Given the description of an element on the screen output the (x, y) to click on. 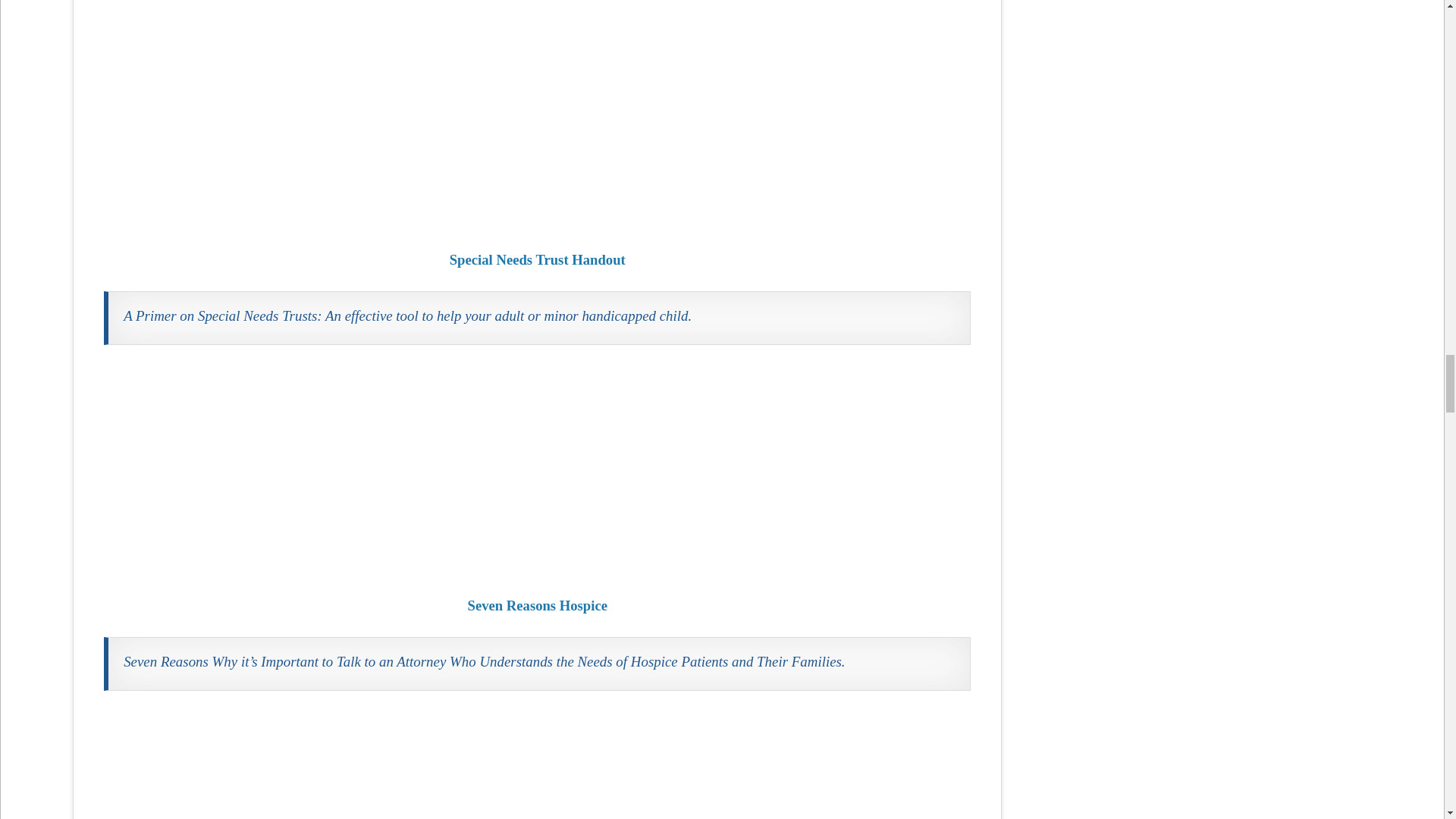
Understanding Veterans Benefits (536, 764)
Special Needs Trust Handout (536, 123)
Seven Reasons Hospice (536, 469)
